Given the description of an element on the screen output the (x, y) to click on. 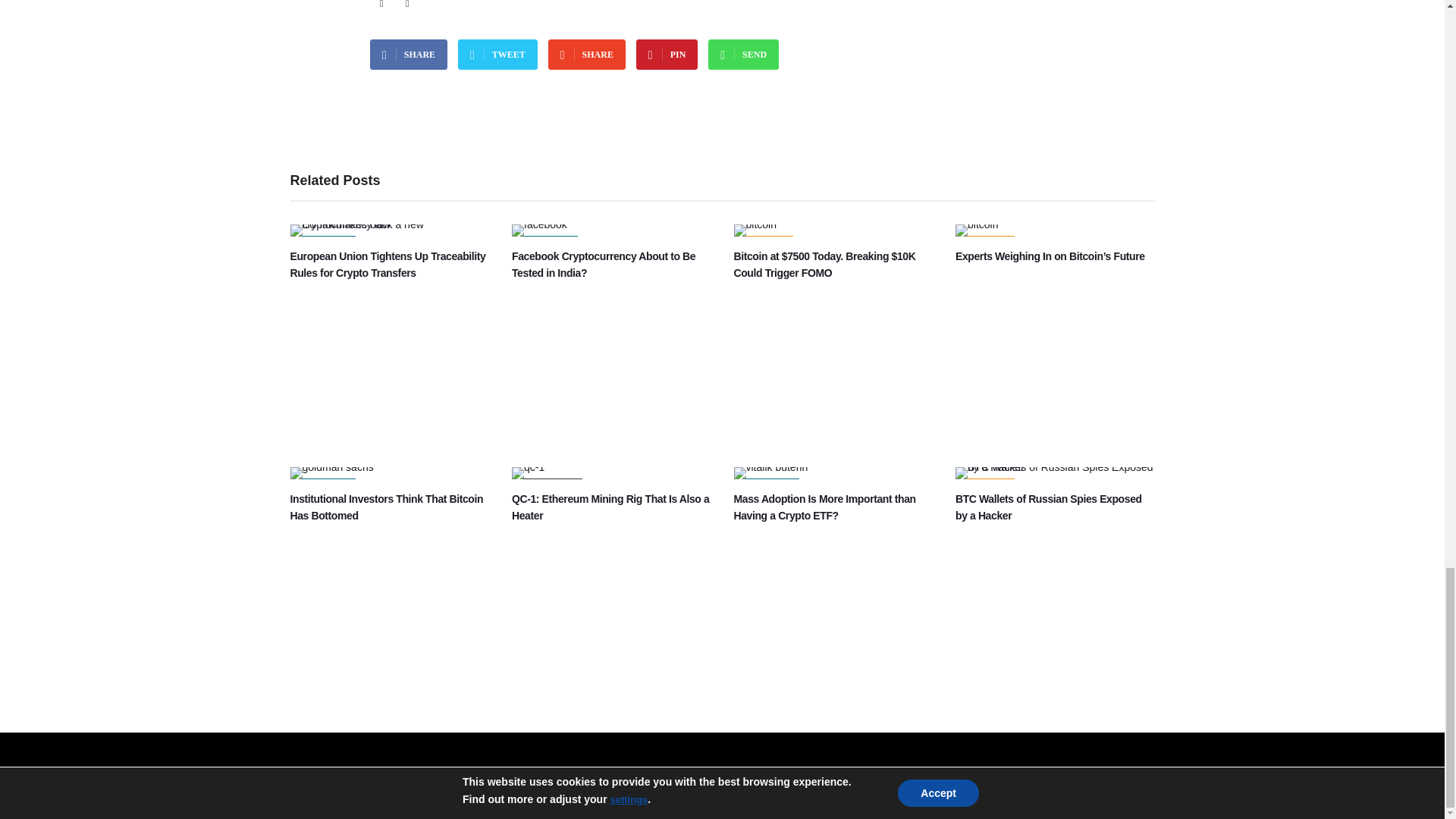
Facebook Cryptocurrency About to Be Tested in India? (539, 224)
Facebook Cryptocurrency About to Be Tested in India? (603, 264)
